Given the description of an element on the screen output the (x, y) to click on. 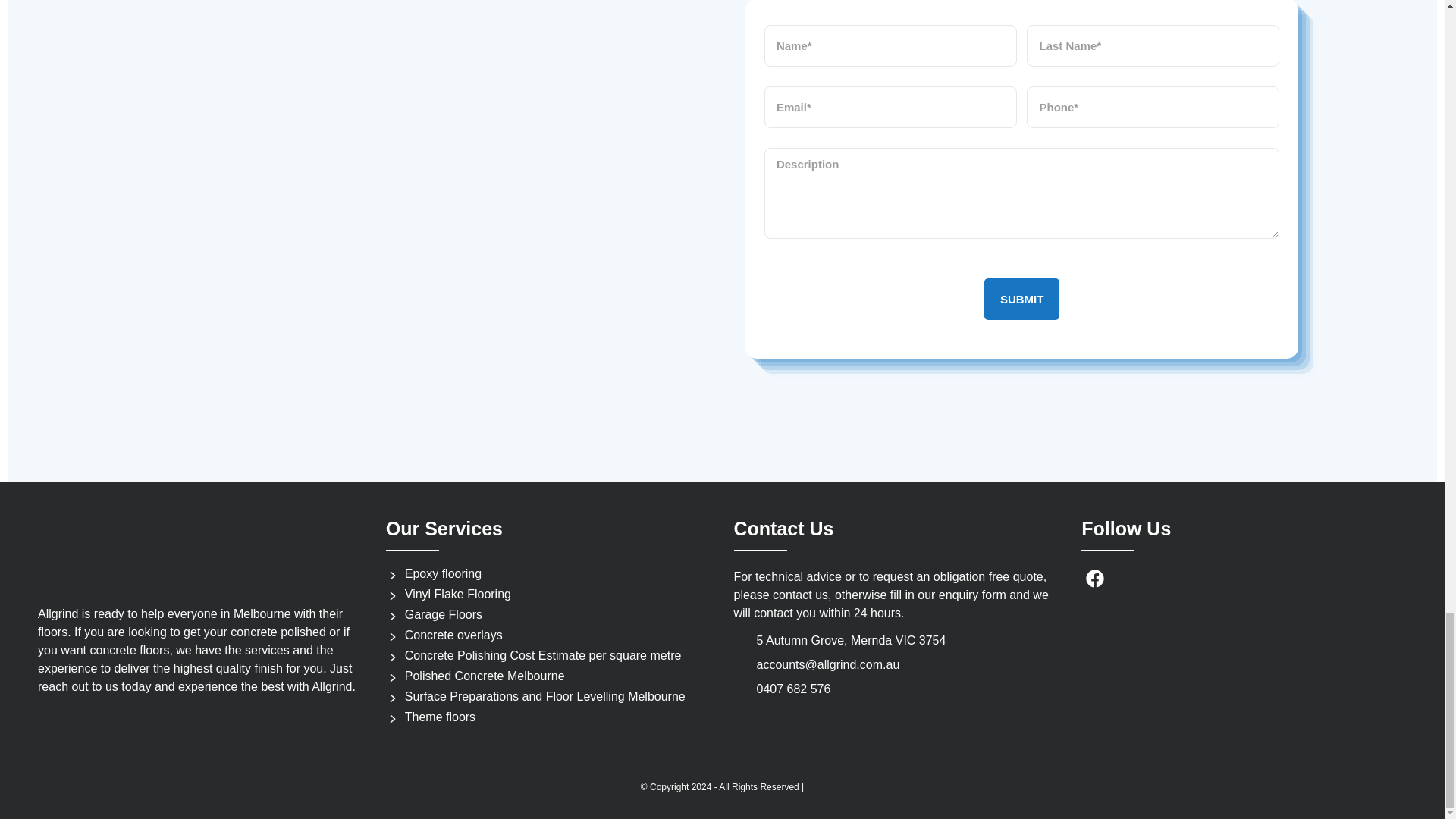
Submit (1021, 299)
